Given the description of an element on the screen output the (x, y) to click on. 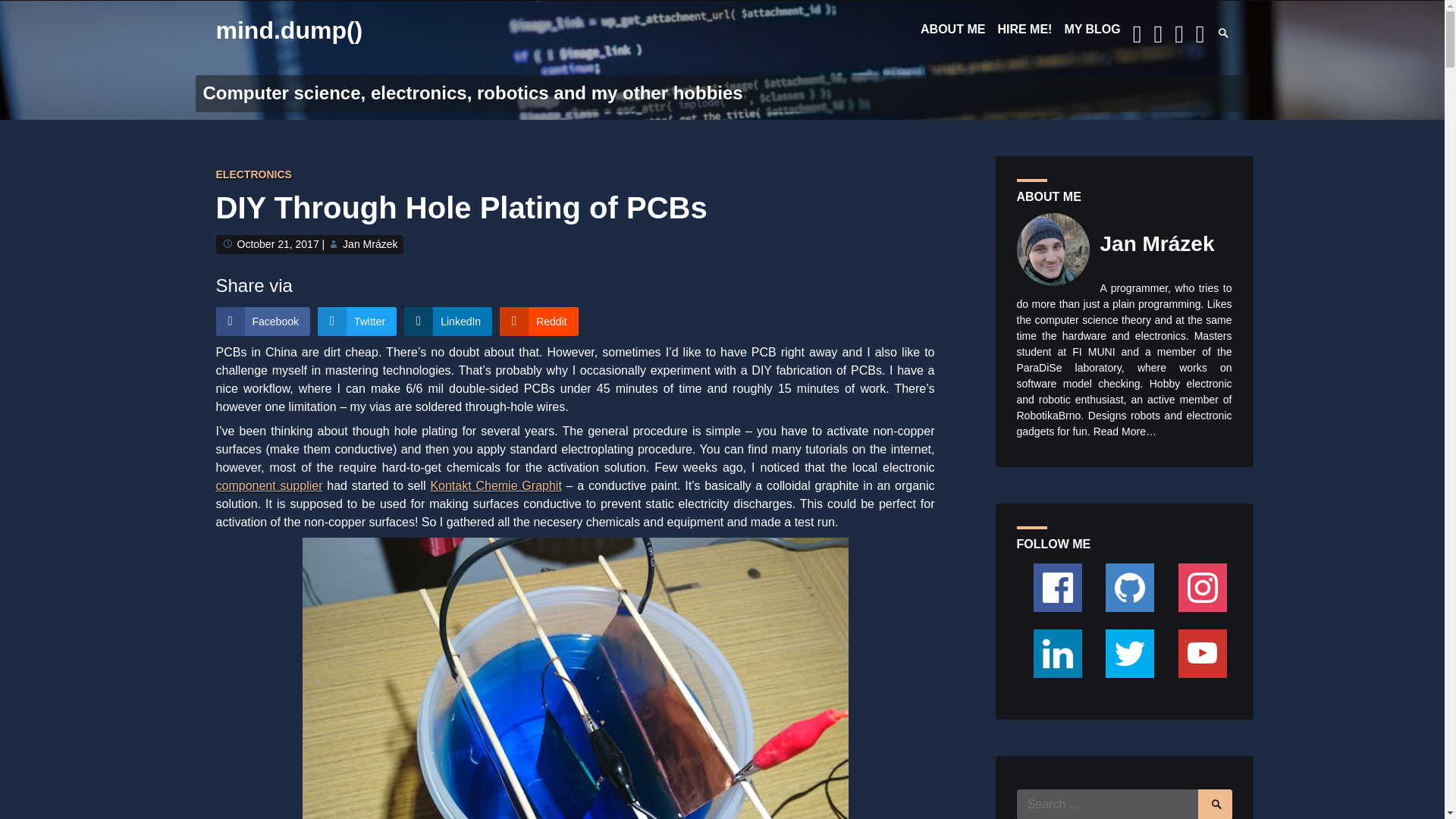
ELECTRONICS (253, 174)
GitHub (1129, 587)
Search for: (1123, 804)
October 21, 2017 (276, 244)
Search (1233, 27)
Twitter (356, 321)
LinkedIn (448, 321)
Instagram (1202, 587)
HIRE ME! (1024, 29)
component supplier (268, 485)
